Given the description of an element on the screen output the (x, y) to click on. 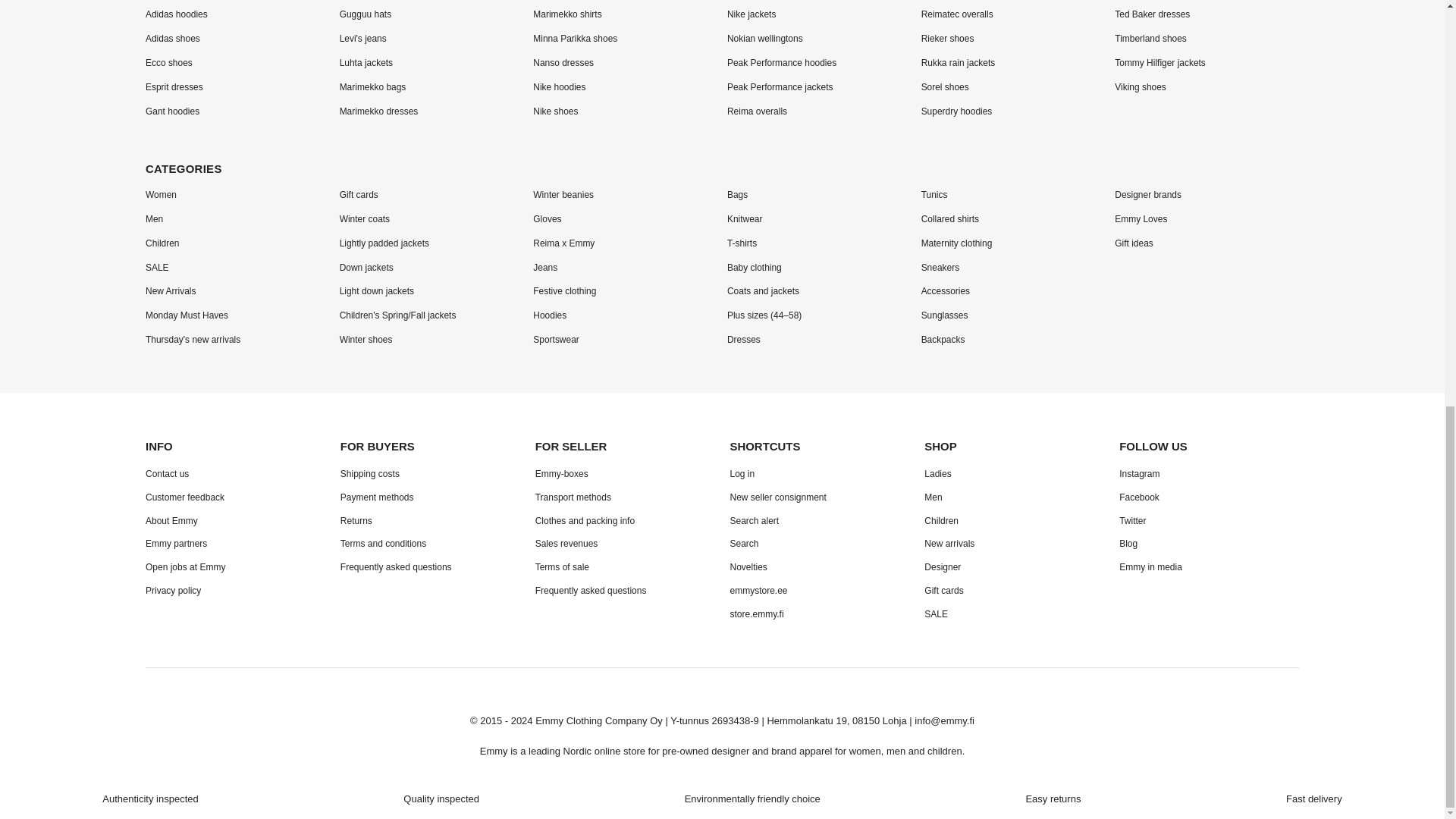
Gugguu hats (365, 14)
Adidas hoodies (176, 14)
Esprit dresses (174, 86)
Adidas shoes (172, 38)
Ecco shoes (168, 62)
Gant hoodies (172, 111)
Levi's jeans (363, 38)
